Given the description of an element on the screen output the (x, y) to click on. 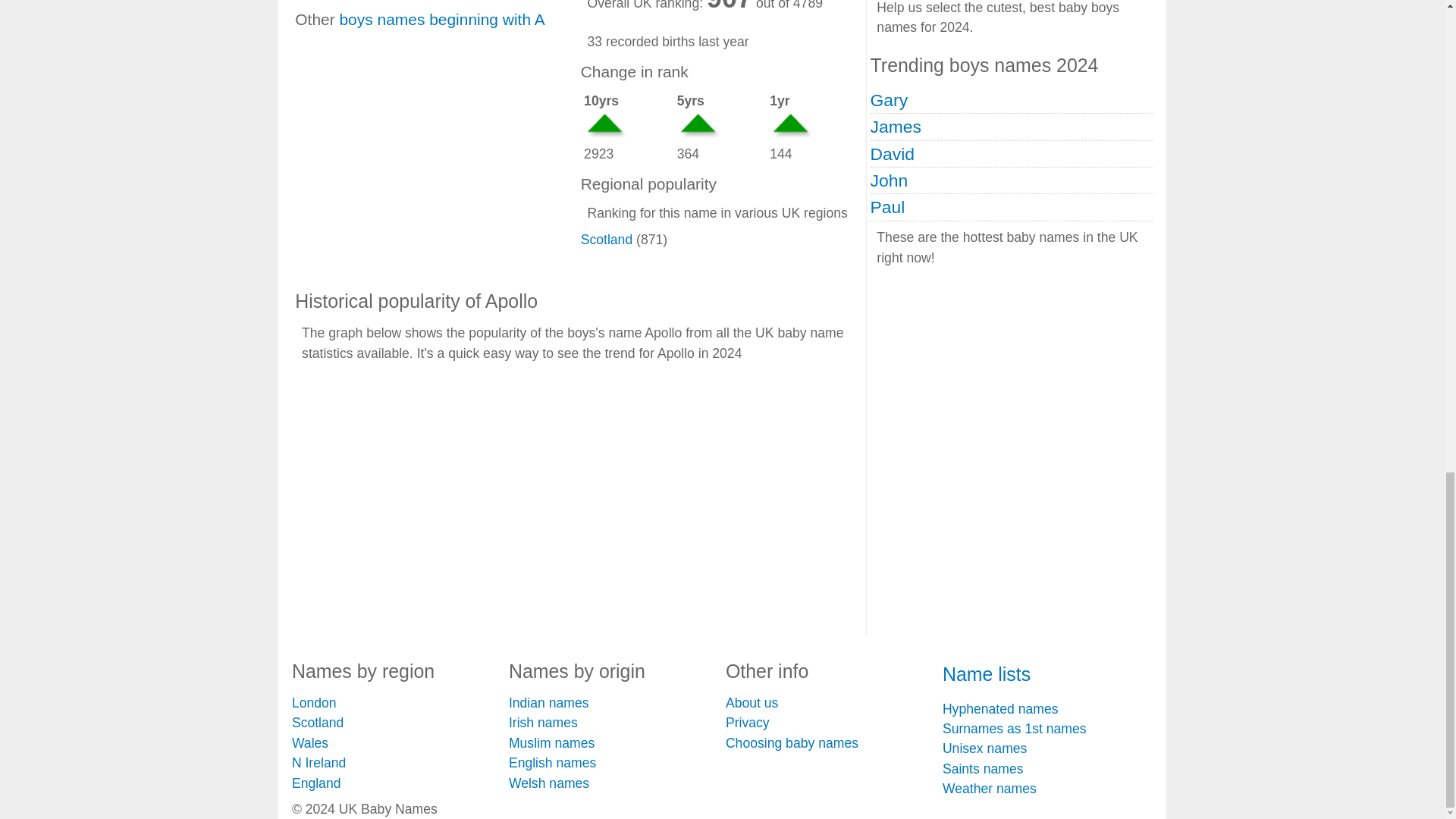
James (895, 126)
Irish names (543, 722)
Wales (310, 743)
N Ireland (319, 762)
boys names beginning with A (441, 18)
London (314, 702)
Scotland (317, 722)
Gary (889, 99)
John (889, 180)
Scotland (605, 239)
